Given the description of an element on the screen output the (x, y) to click on. 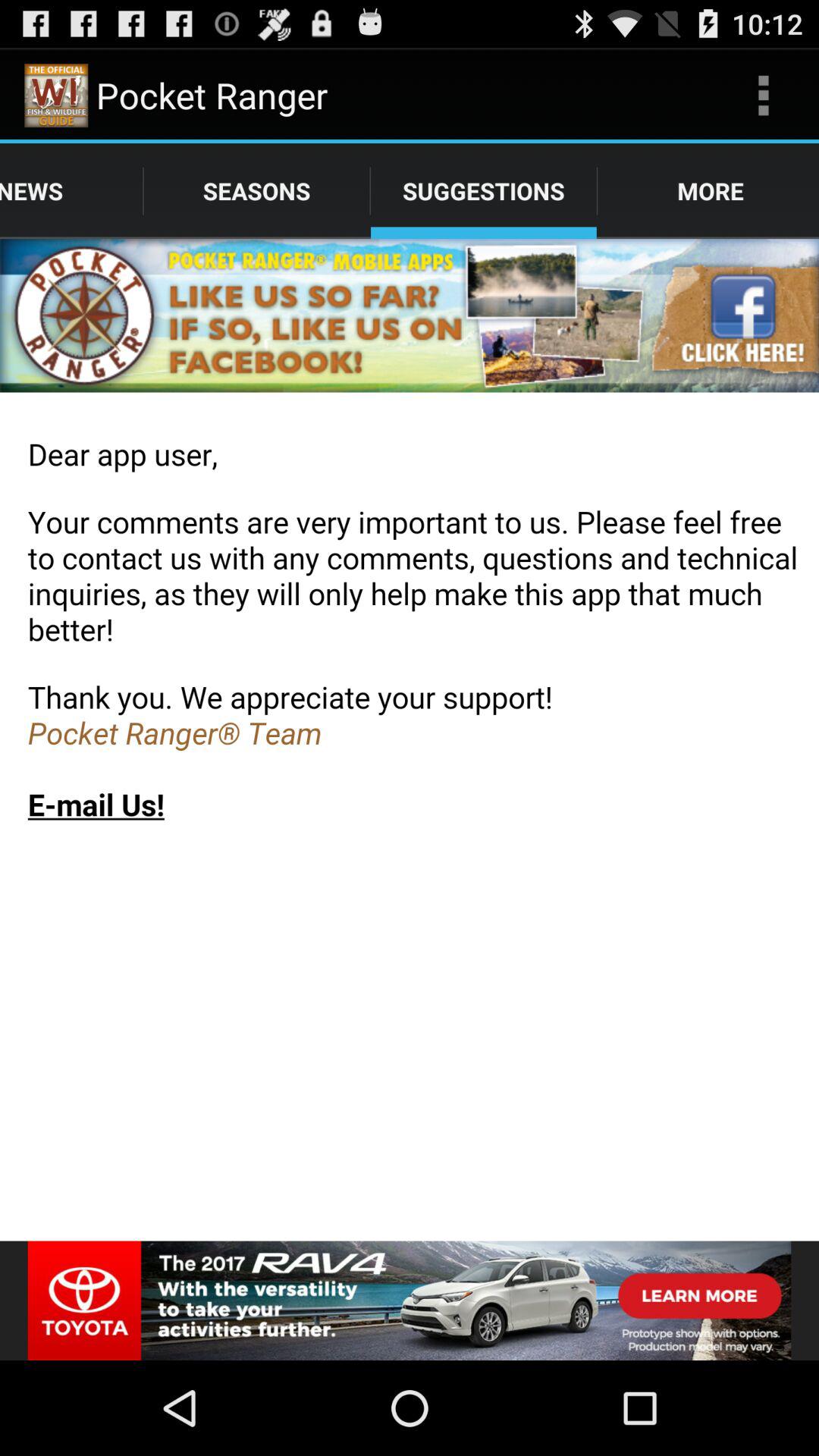
advertisement (409, 1300)
